Given the description of an element on the screen output the (x, y) to click on. 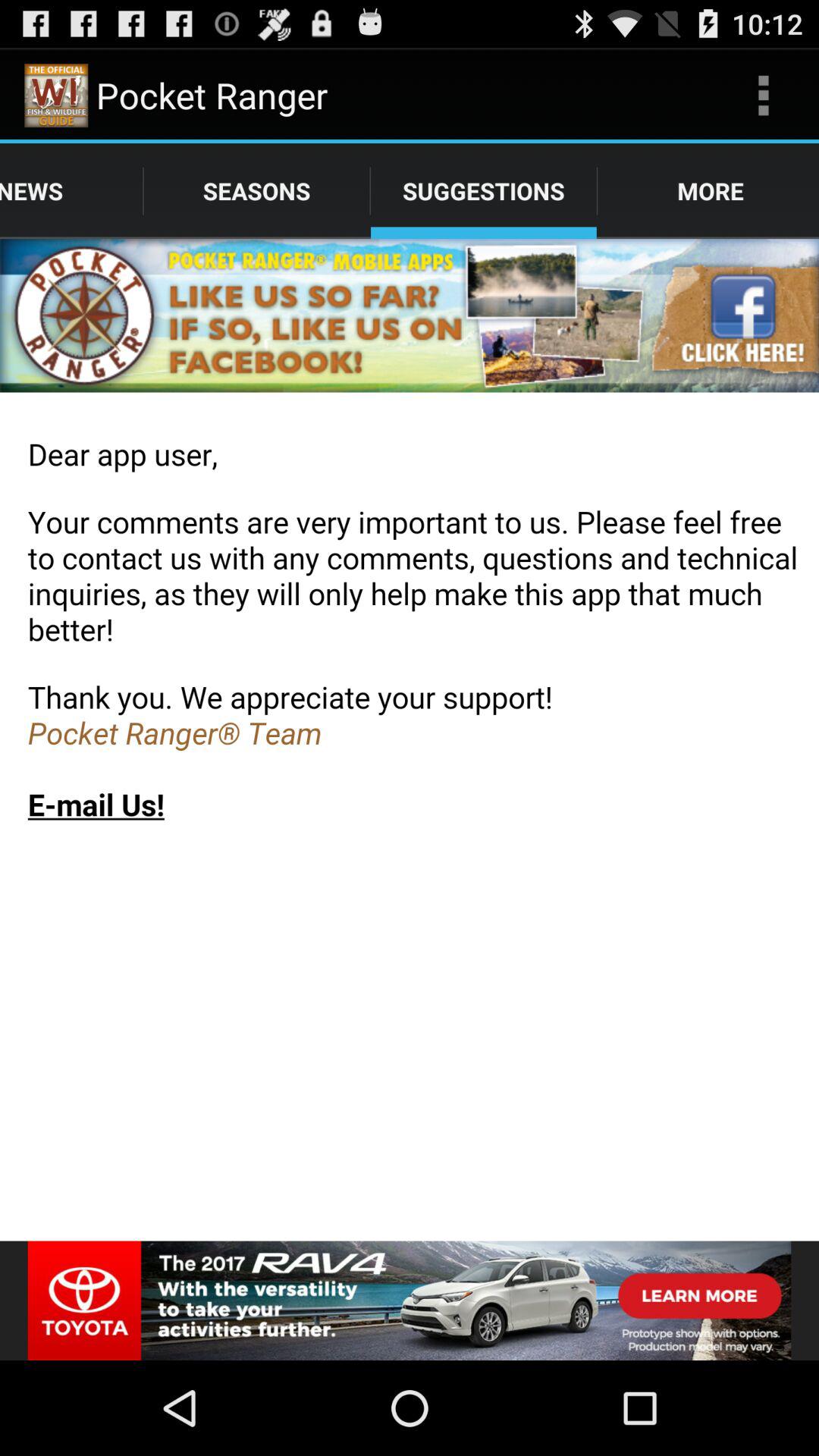
advertisement (409, 1300)
